Given the description of an element on the screen output the (x, y) to click on. 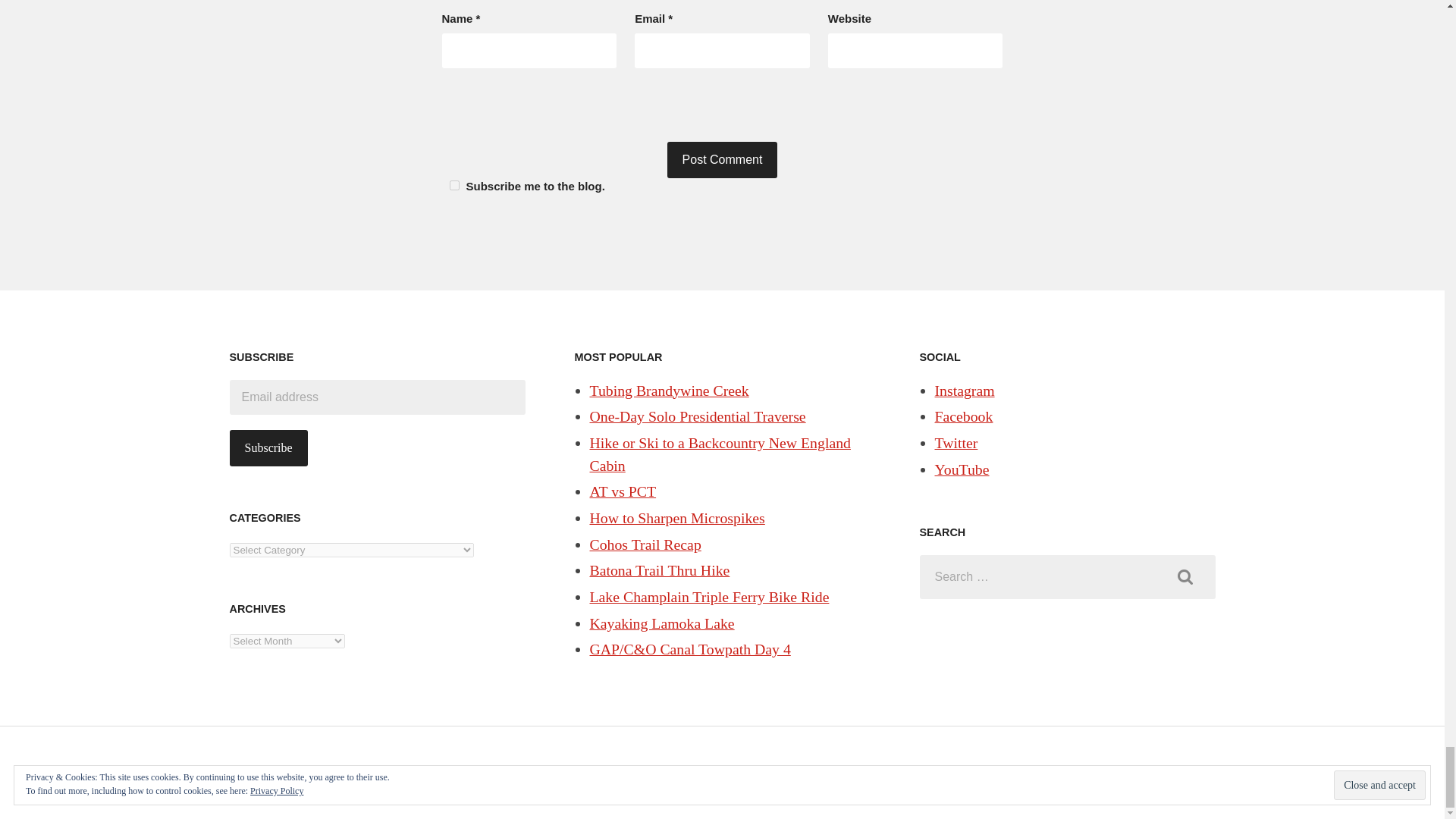
Tubing Brandywine Creek (669, 390)
One-Day Solo Presidential Traverse (697, 416)
Subscribe (267, 447)
1 (453, 185)
Email address (376, 397)
Search (1184, 576)
Hike or Ski to a Backcountry New England Cabin (719, 454)
Search (1184, 576)
Post Comment (721, 159)
